Given the description of an element on the screen output the (x, y) to click on. 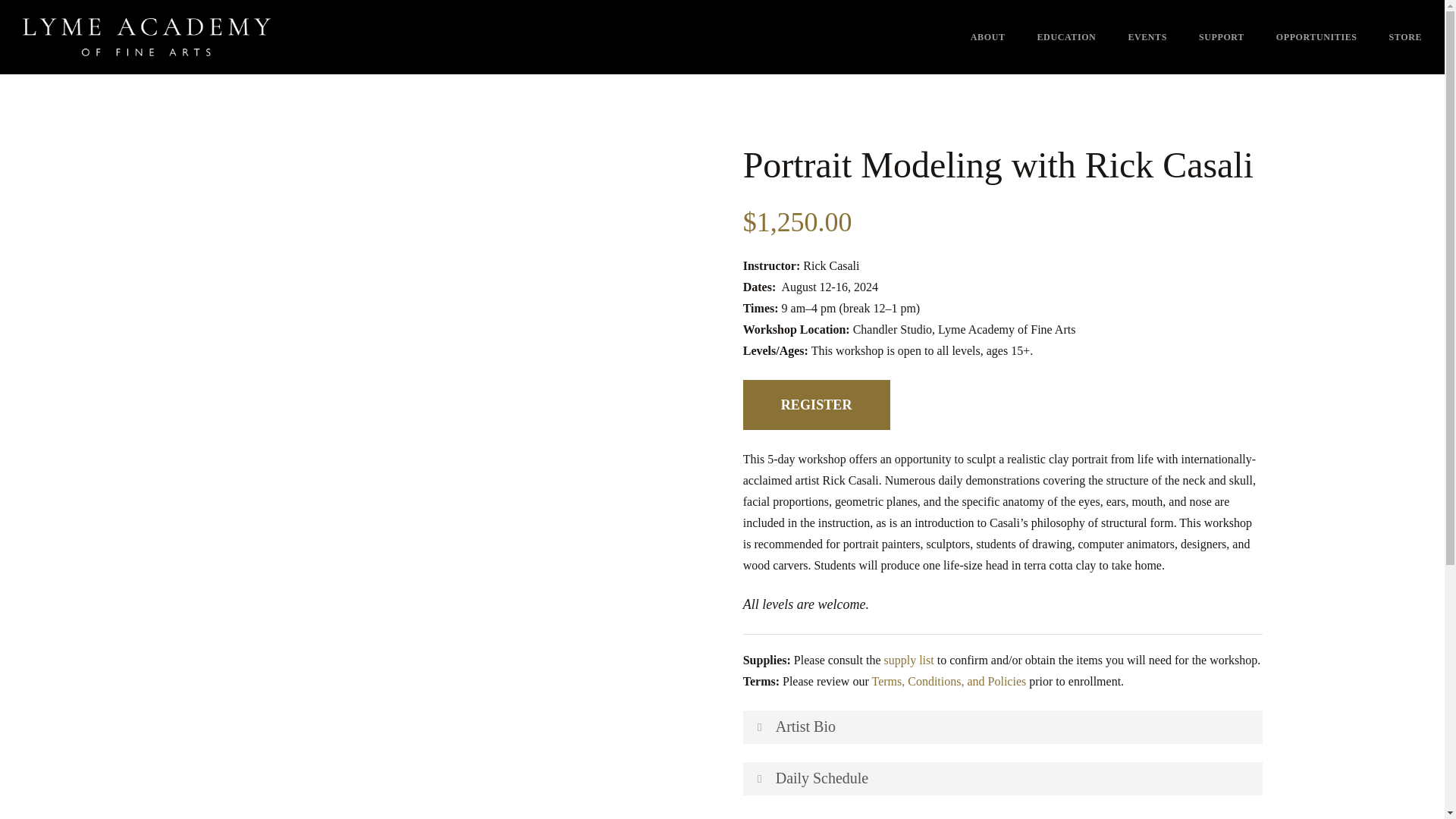
REGISTER (815, 404)
OPPORTUNITIES (1316, 37)
EDUCATION (1066, 37)
STORE (1405, 37)
SUPPORT (1221, 37)
EVENTS (1146, 37)
Artist Bio (1002, 726)
supply list (908, 659)
ABOUT (988, 37)
Terms, Conditions, and Policies (948, 680)
